Given the description of an element on the screen output the (x, y) to click on. 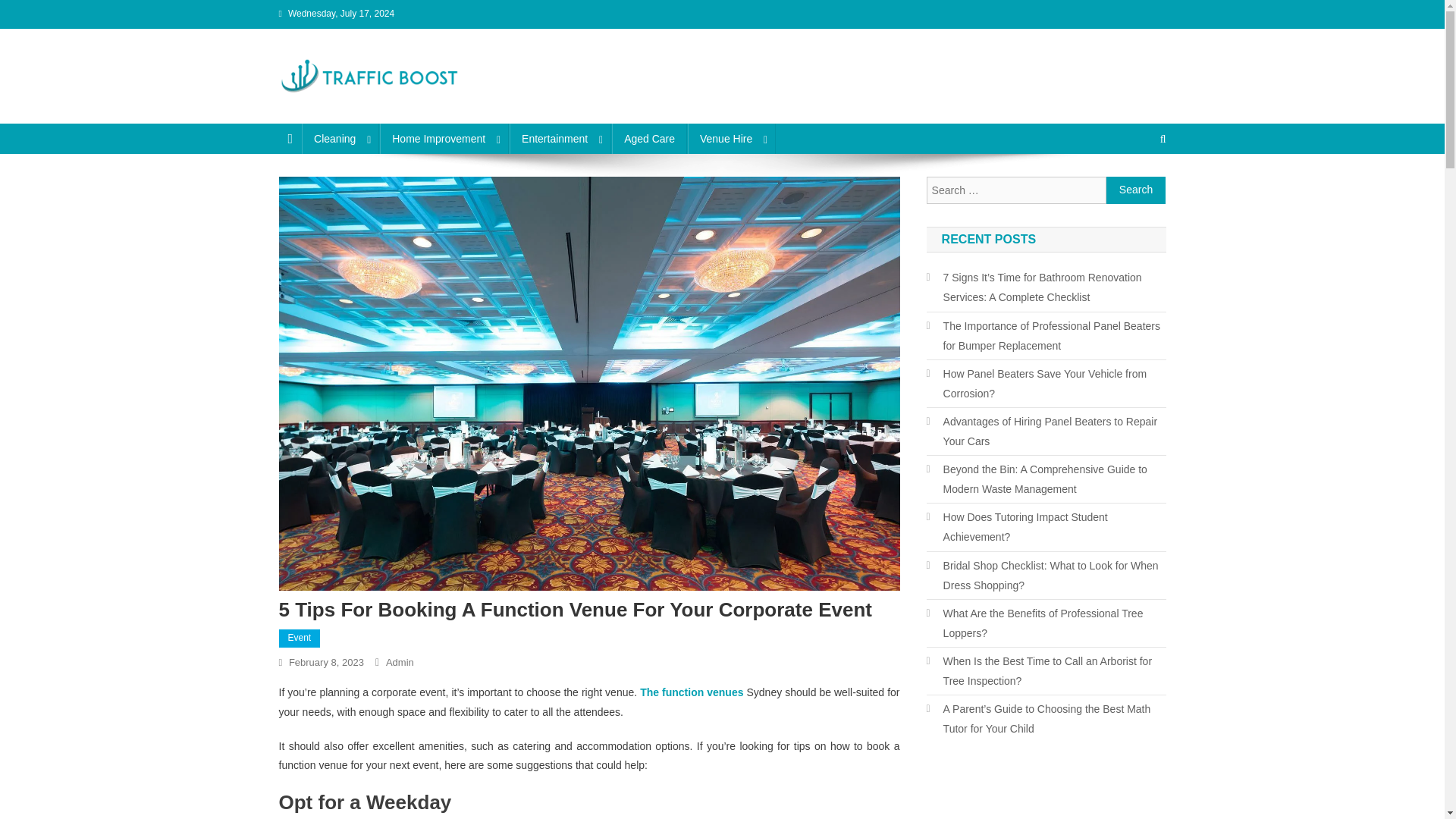
Search (1136, 189)
Aged Care (649, 138)
Event (299, 638)
Search (1133, 189)
Venue Hire (731, 138)
The (651, 692)
Entertainment (560, 138)
Admin (399, 662)
Home Improvement (444, 138)
Search (1136, 189)
function venues (702, 692)
function venues Sydney (651, 692)
Traffic Boost (353, 108)
Cleaning (339, 138)
Skip to content (34, 9)
